Given the description of an element on the screen output the (x, y) to click on. 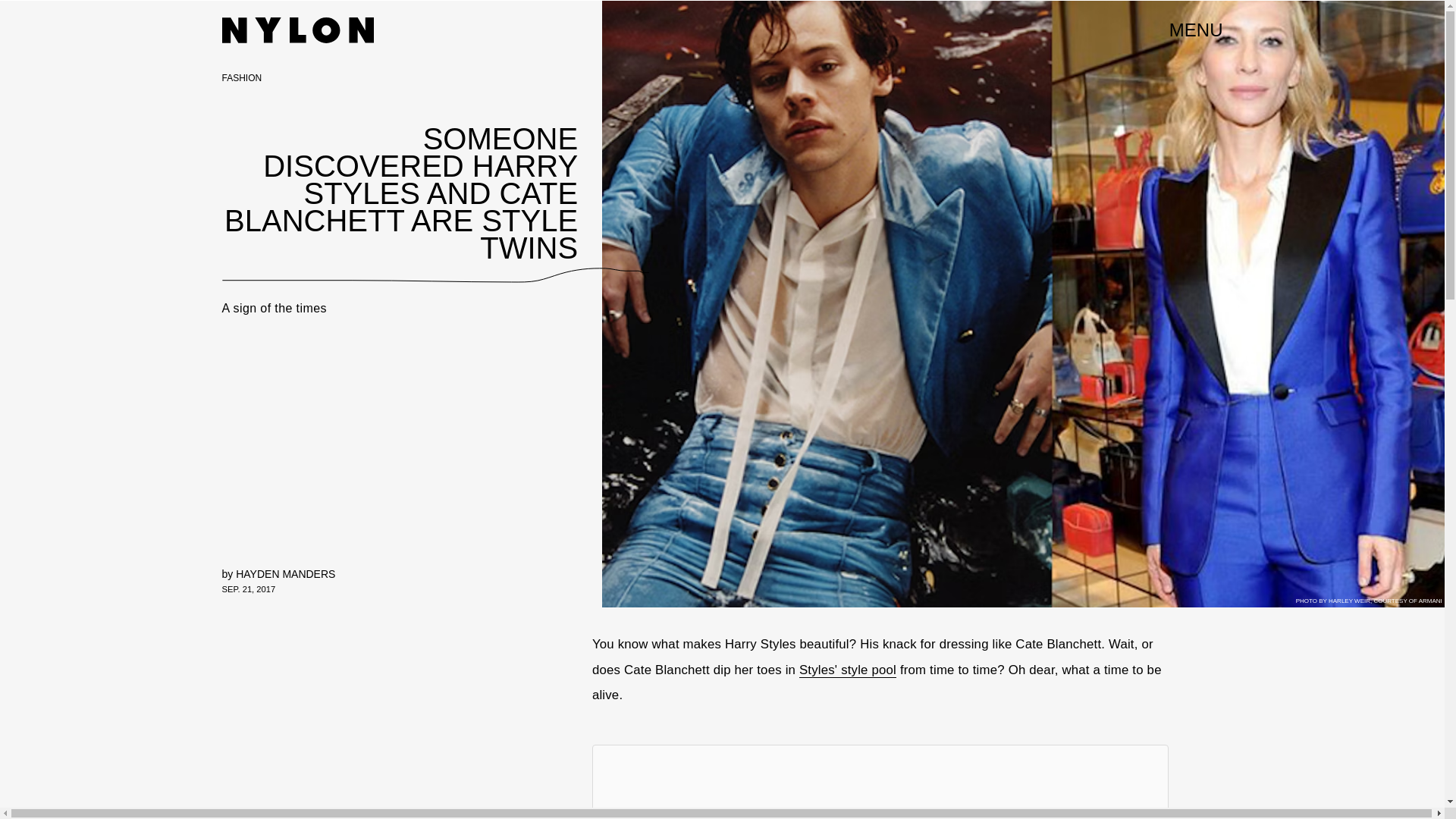
HAYDEN MANDERS (284, 573)
Nylon (296, 30)
Styles' style pool (847, 670)
